Given the description of an element on the screen output the (x, y) to click on. 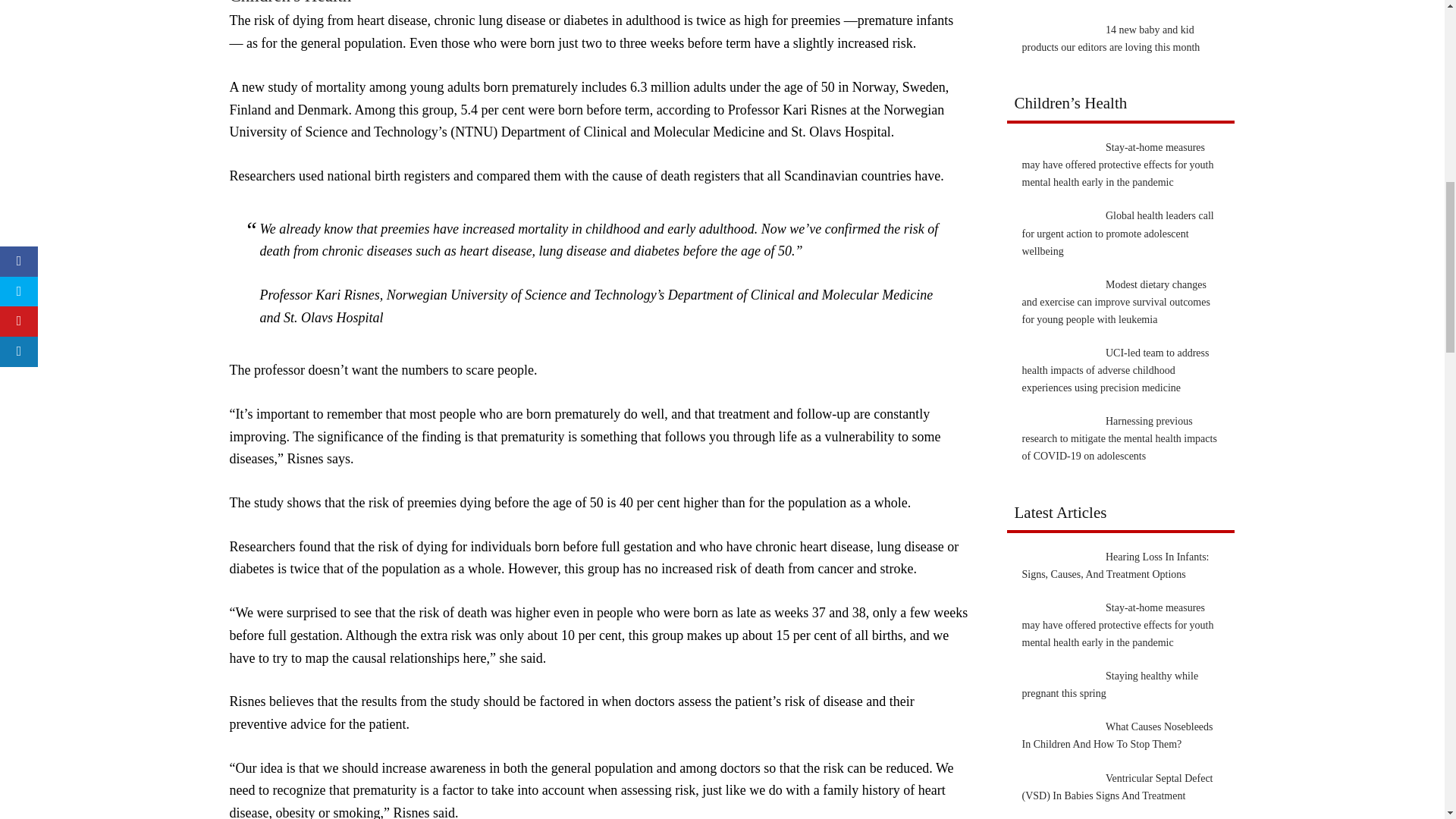
Children's Health (289, 2)
